Given the description of an element on the screen output the (x, y) to click on. 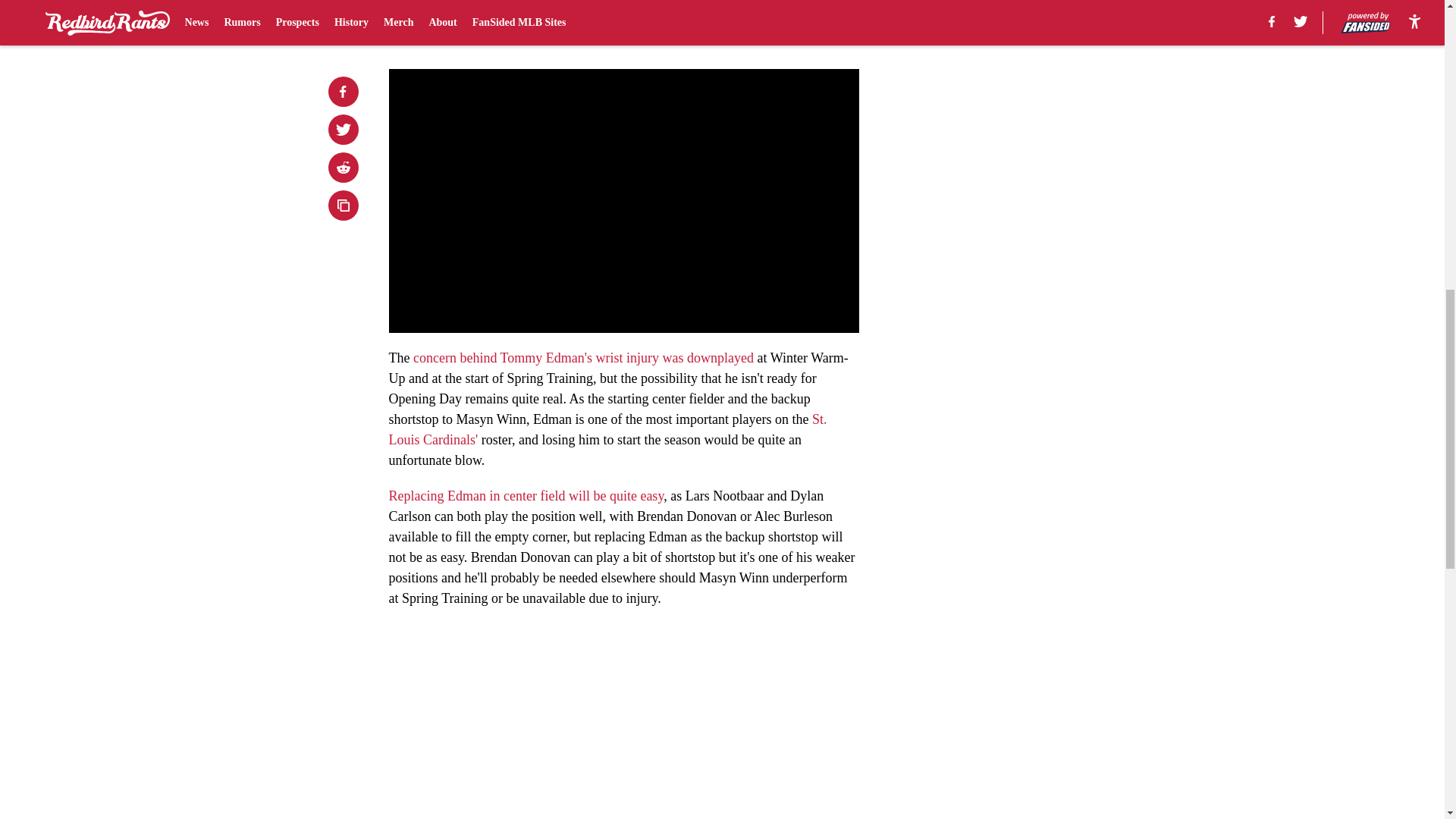
concern behind Tommy Edman's wrist injury was downplayed (583, 357)
Replacing Edman in center field will be quite easy (525, 495)
St. Louis Cardinals' (607, 429)
